Given the description of an element on the screen output the (x, y) to click on. 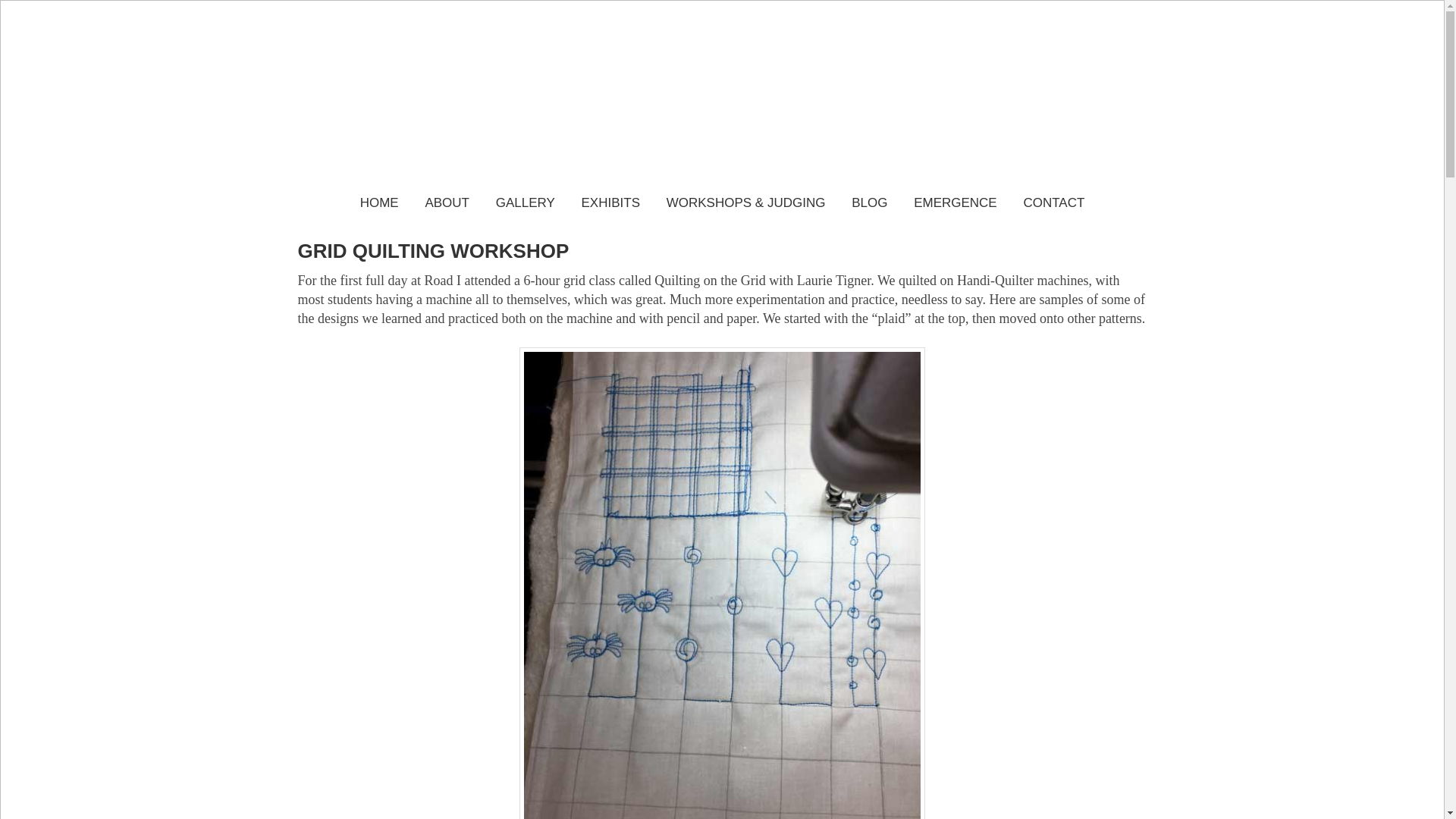
Kathie Kerler (721, 117)
CONTACT (1053, 202)
EMERGENCE (955, 202)
BLOG (869, 202)
EXHIBITS (610, 202)
GALLERY (525, 202)
HOME (379, 202)
ABOUT (446, 202)
